Given the description of an element on the screen output the (x, y) to click on. 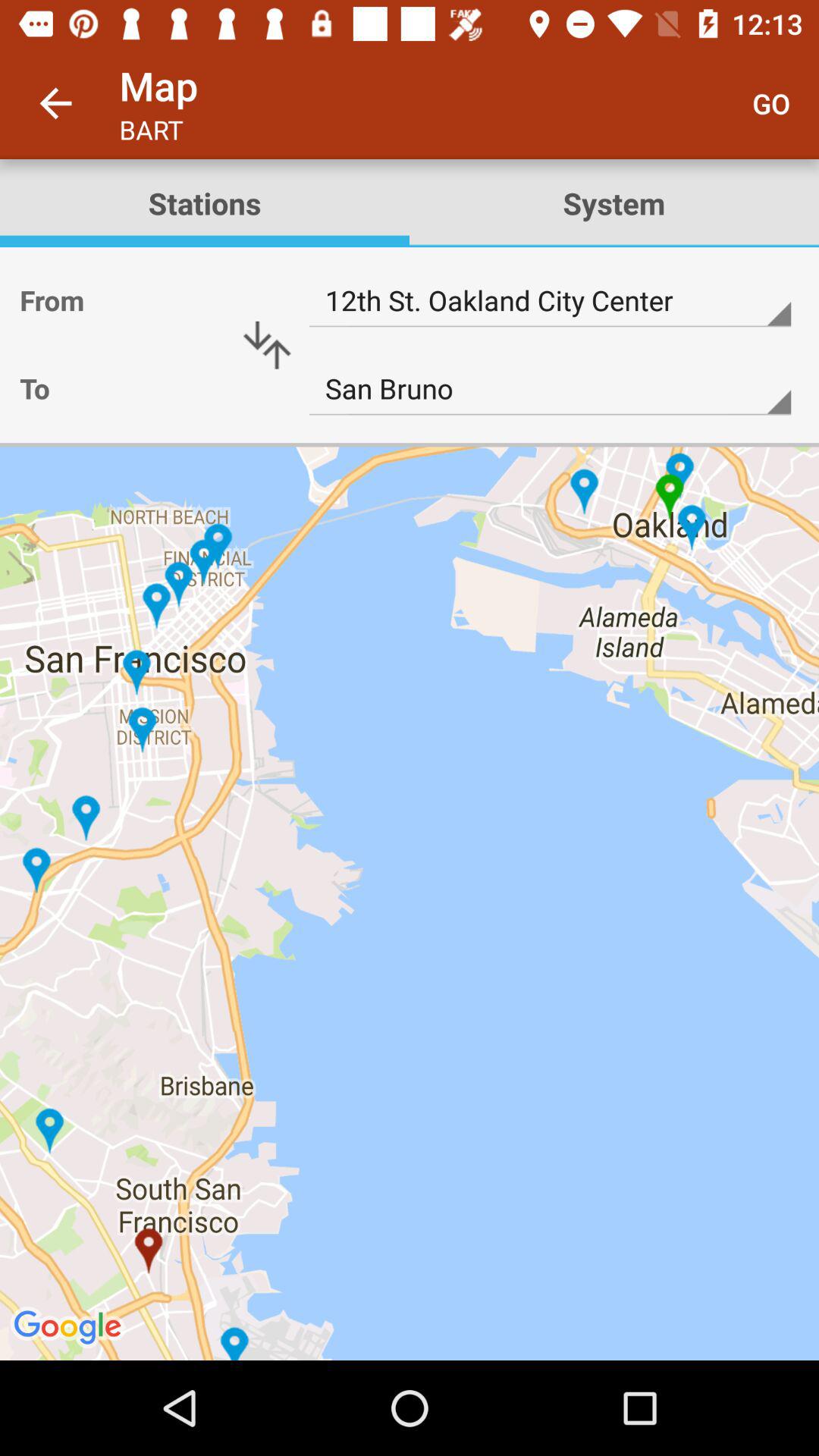
open stations item (204, 203)
